Given the description of an element on the screen output the (x, y) to click on. 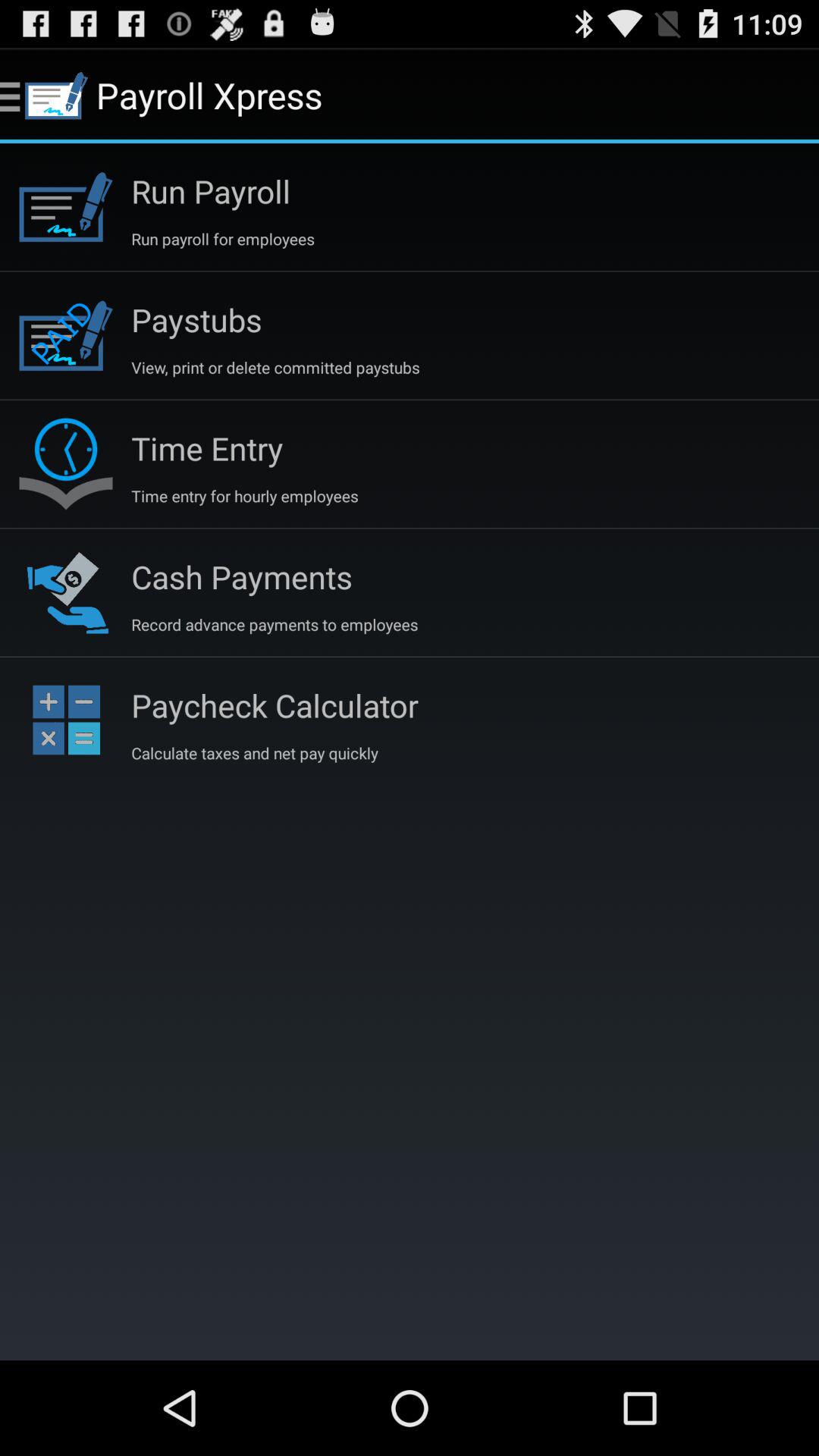
choose record advance payments item (274, 624)
